Given the description of an element on the screen output the (x, y) to click on. 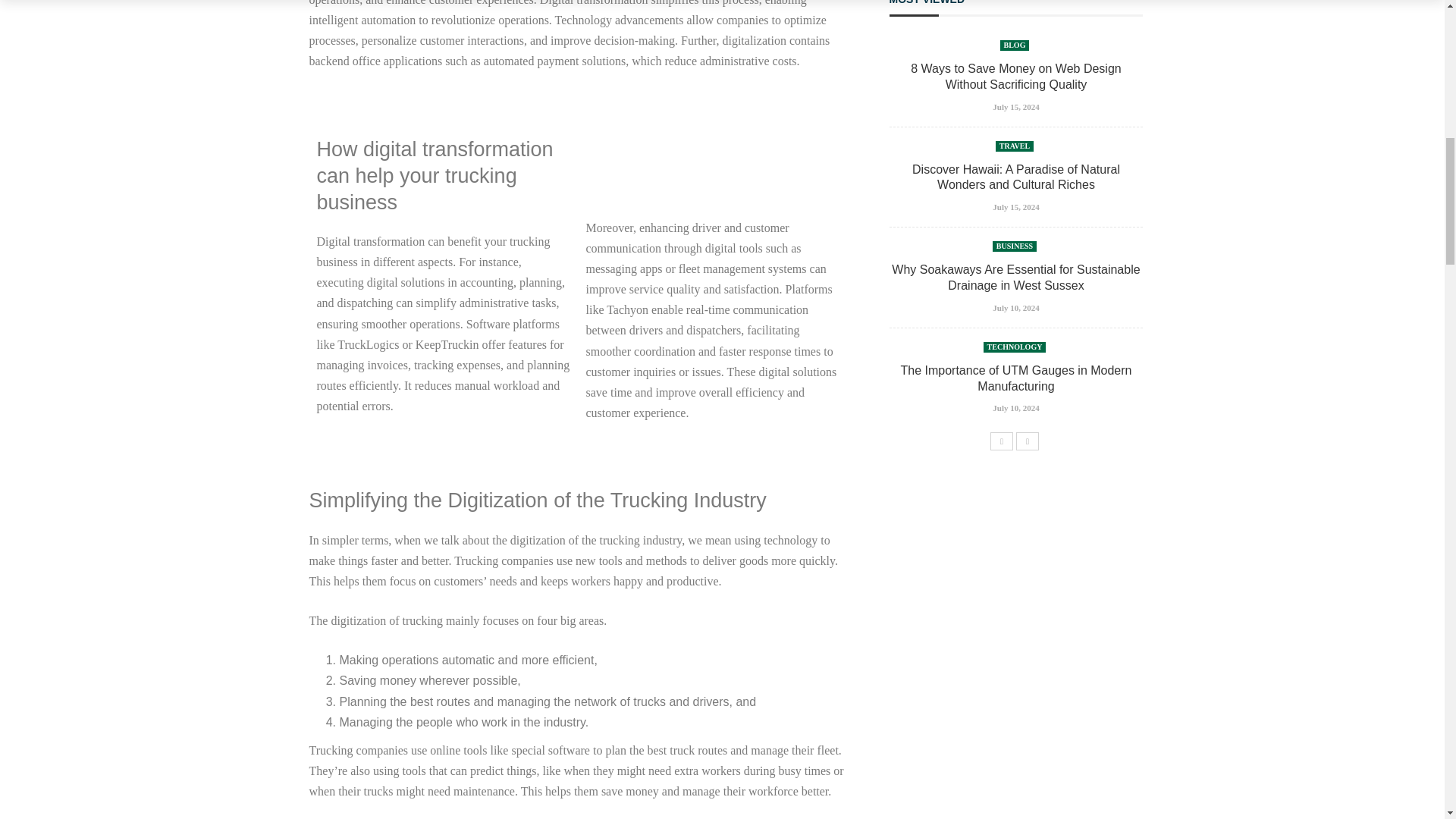
Previous (1001, 441)
